Given the description of an element on the screen output the (x, y) to click on. 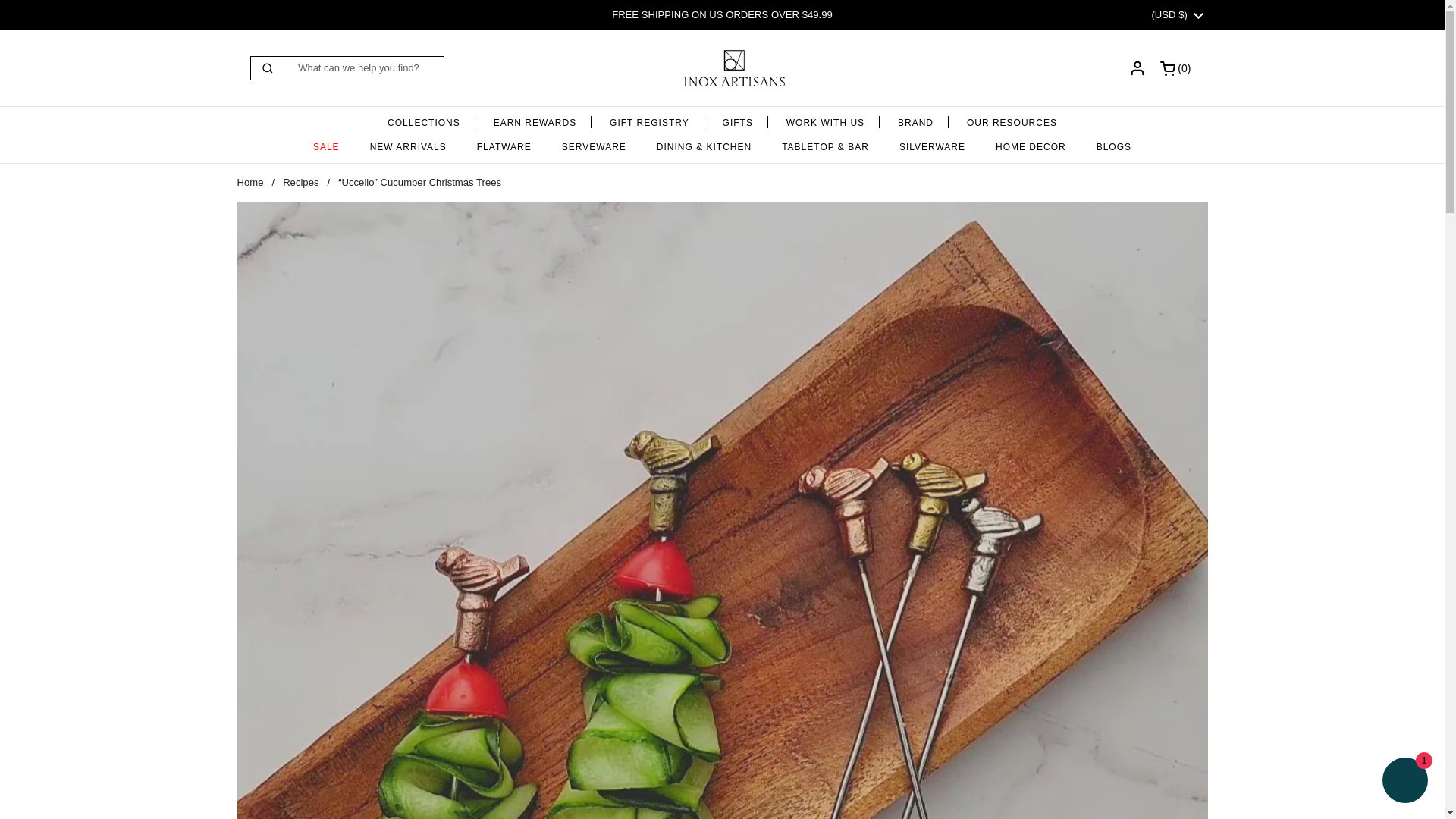
GIFTS (737, 119)
INOX Artisans (1179, 67)
GIFT REGISTRY (734, 67)
Open cart (649, 119)
COLLECTIONS (1179, 67)
EARN REWARDS (424, 119)
Shopify online store chat (535, 119)
